Given the description of an element on the screen output the (x, y) to click on. 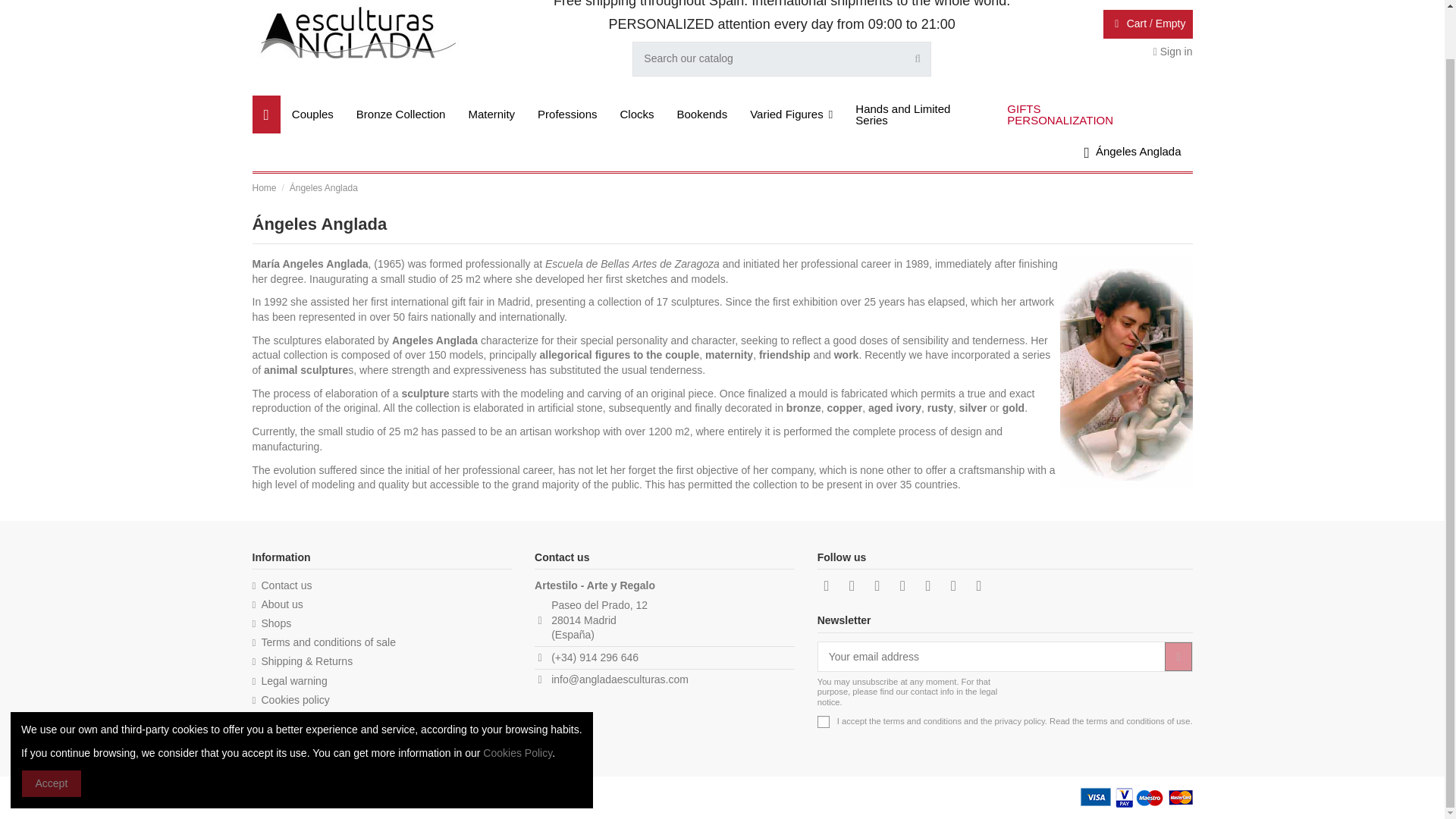
GIFTS PERSONALIZATION (1071, 114)
Log in to your customer account (1172, 51)
Professions (566, 114)
Bookends (702, 114)
Our stores of figures and sculptures of Anglada Sculptures. (271, 623)
Clocks (636, 114)
Use our form to get in touch with us. (281, 585)
Our terms and conditions of sale of Anglada Sculptures (322, 642)
Varied Figures (791, 114)
Maternity (491, 114)
Hands and Limited Series (919, 114)
Privacy policy of our Anglada Esculturas online store. (292, 719)
Bronze Collection (401, 114)
